Given the description of an element on the screen output the (x, y) to click on. 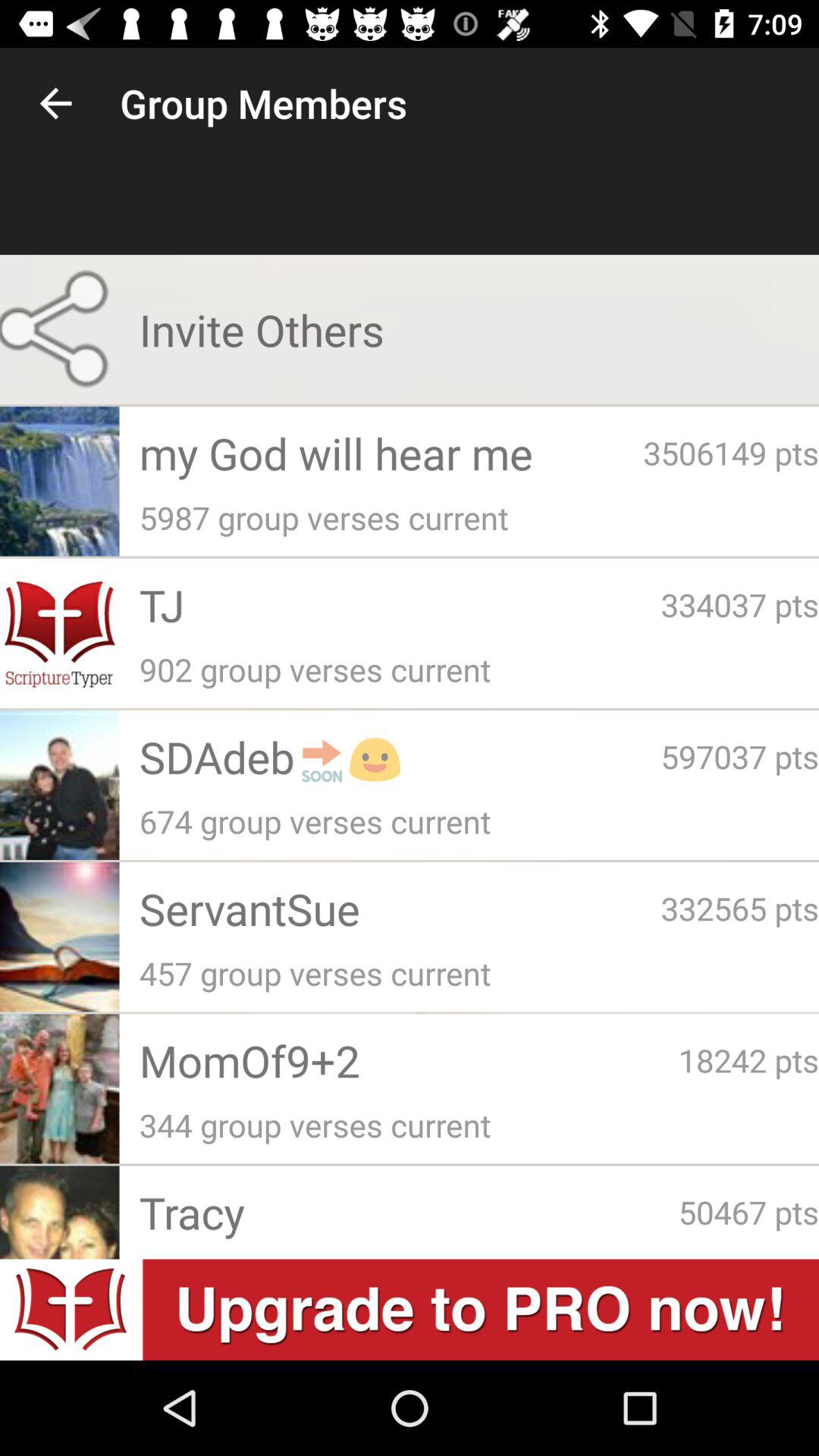
launch the 597037 pts icon (739, 756)
